Given the description of an element on the screen output the (x, y) to click on. 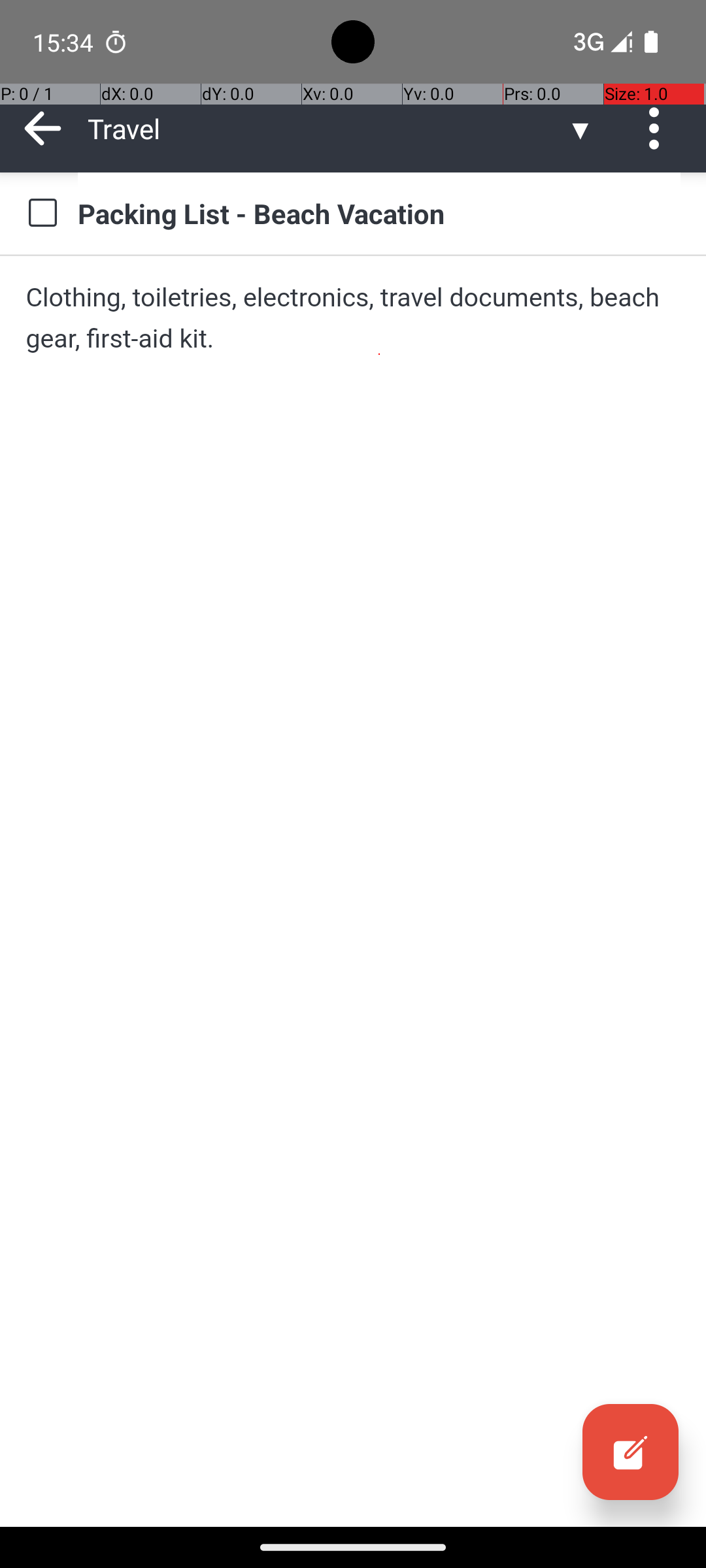
Packing List - Beach Vacation Element type: android.widget.EditText (378, 213)
Clothing, toiletries, electronics, travel documents, beach gear, first-aid kit. Element type: android.widget.TextView (352, 317)
